Given the description of an element on the screen output the (x, y) to click on. 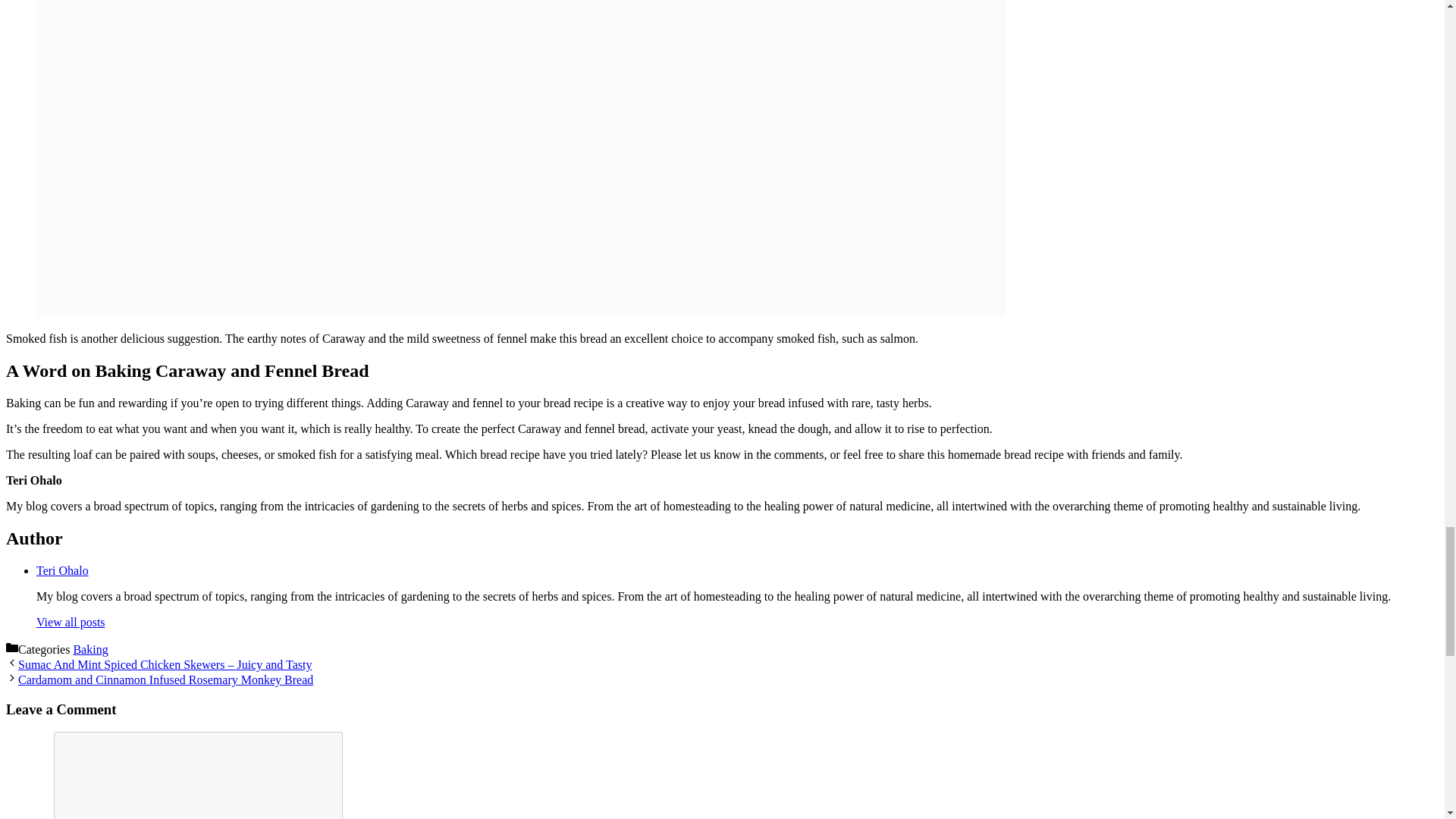
View all posts (70, 621)
View all posts (70, 621)
Cardamom and Cinnamon Infused Rosemary Monkey Bread (165, 679)
Teri Ohalo (62, 570)
Baking (89, 649)
Teri Ohalo (62, 570)
